Given the description of an element on the screen output the (x, y) to click on. 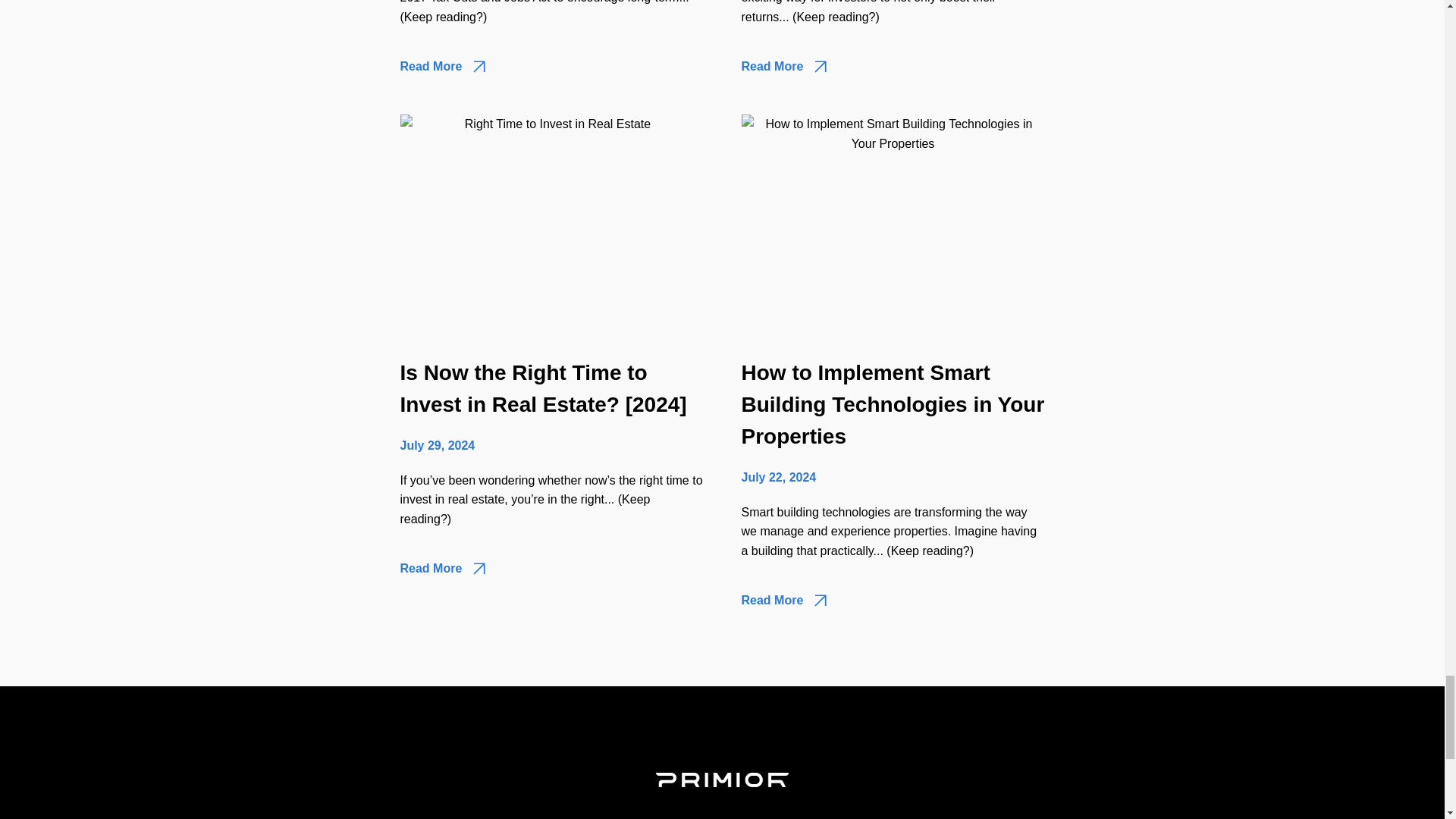
Read More (784, 601)
Read More (443, 67)
Read More (443, 569)
Read More (784, 67)
